Given the description of an element on the screen output the (x, y) to click on. 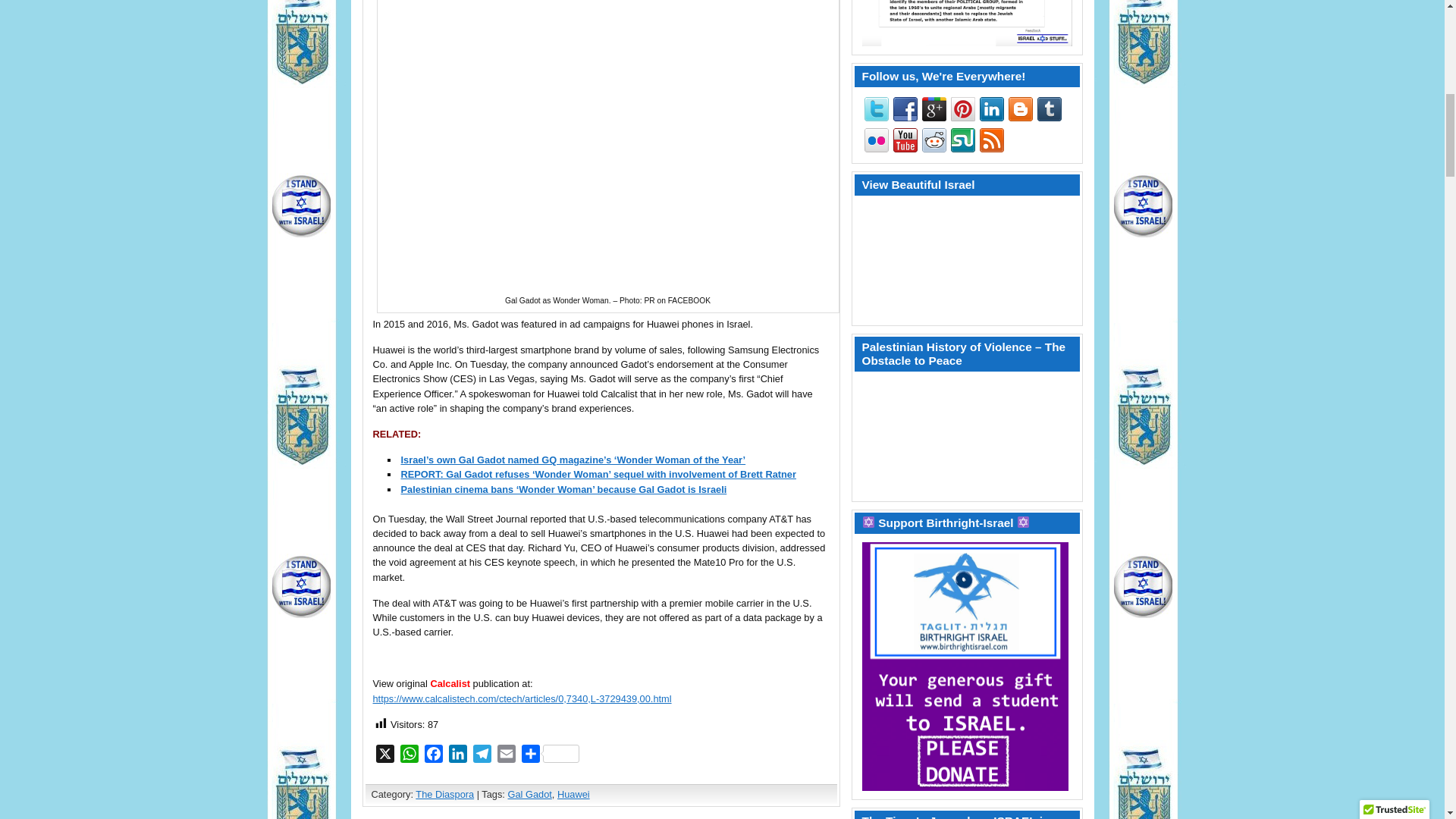
Telegram (482, 756)
X (384, 756)
LinkedIn (457, 756)
Facebook (433, 756)
WhatsApp (409, 756)
